Given the description of an element on the screen output the (x, y) to click on. 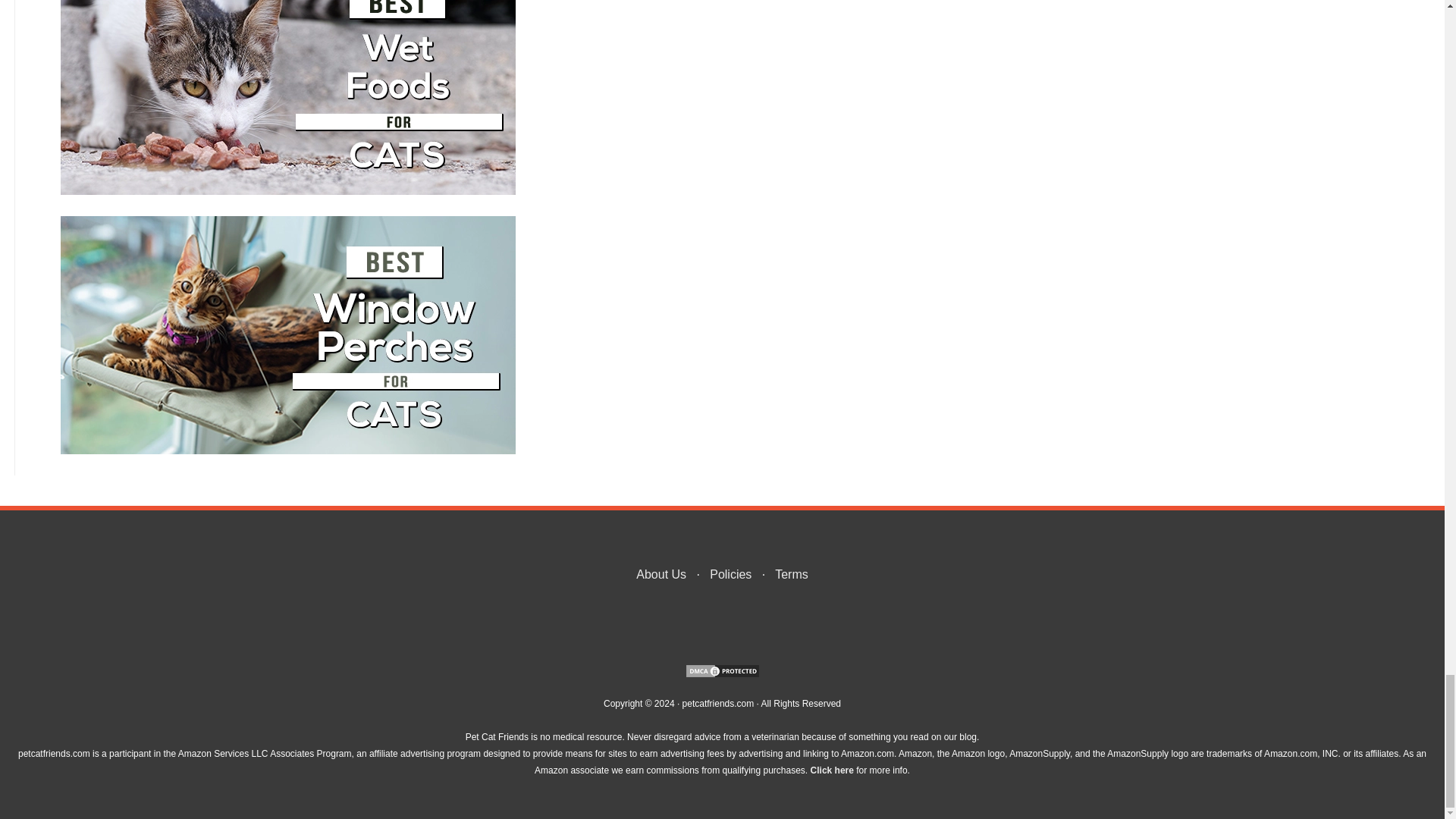
DMCA.com Protection Status (721, 677)
